Given the description of an element on the screen output the (x, y) to click on. 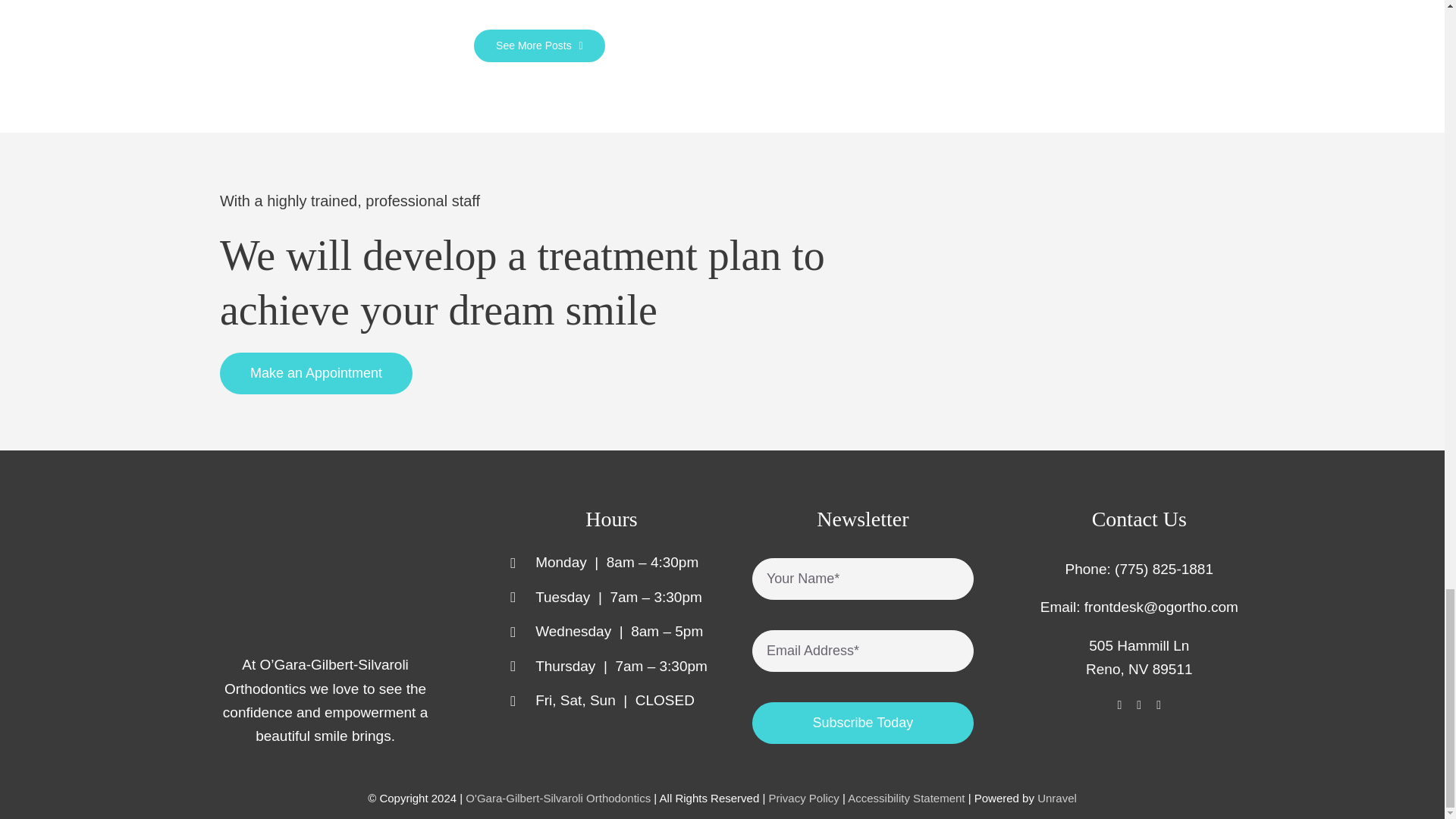
og-logo (312, 570)
Subscribe Today (863, 658)
